Given the description of an element on the screen output the (x, y) to click on. 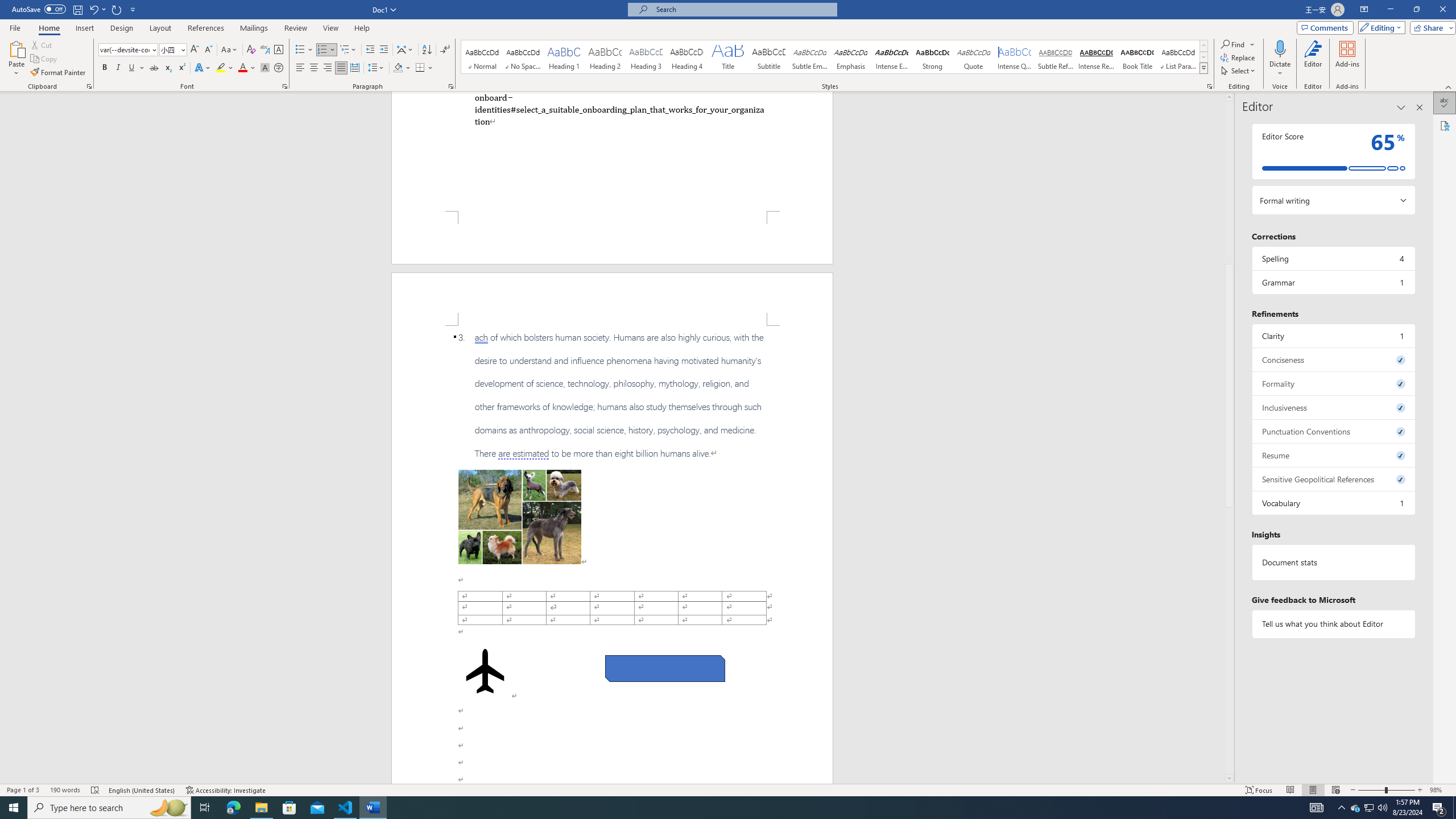
Font Color Automatic (241, 67)
Font (128, 49)
Dictate (1280, 58)
Document statistics (1333, 561)
Intense Reference (1095, 56)
Formality, 0 issues. Press space or enter to review items. (1333, 383)
Conciseness, 0 issues. Press space or enter to review items. (1333, 359)
Page 1 content (611, 151)
Customize Quick Access Toolbar (133, 9)
Intense Emphasis (891, 56)
Save (77, 9)
Zoom (1386, 790)
Character Border (278, 49)
